Given the description of an element on the screen output the (x, y) to click on. 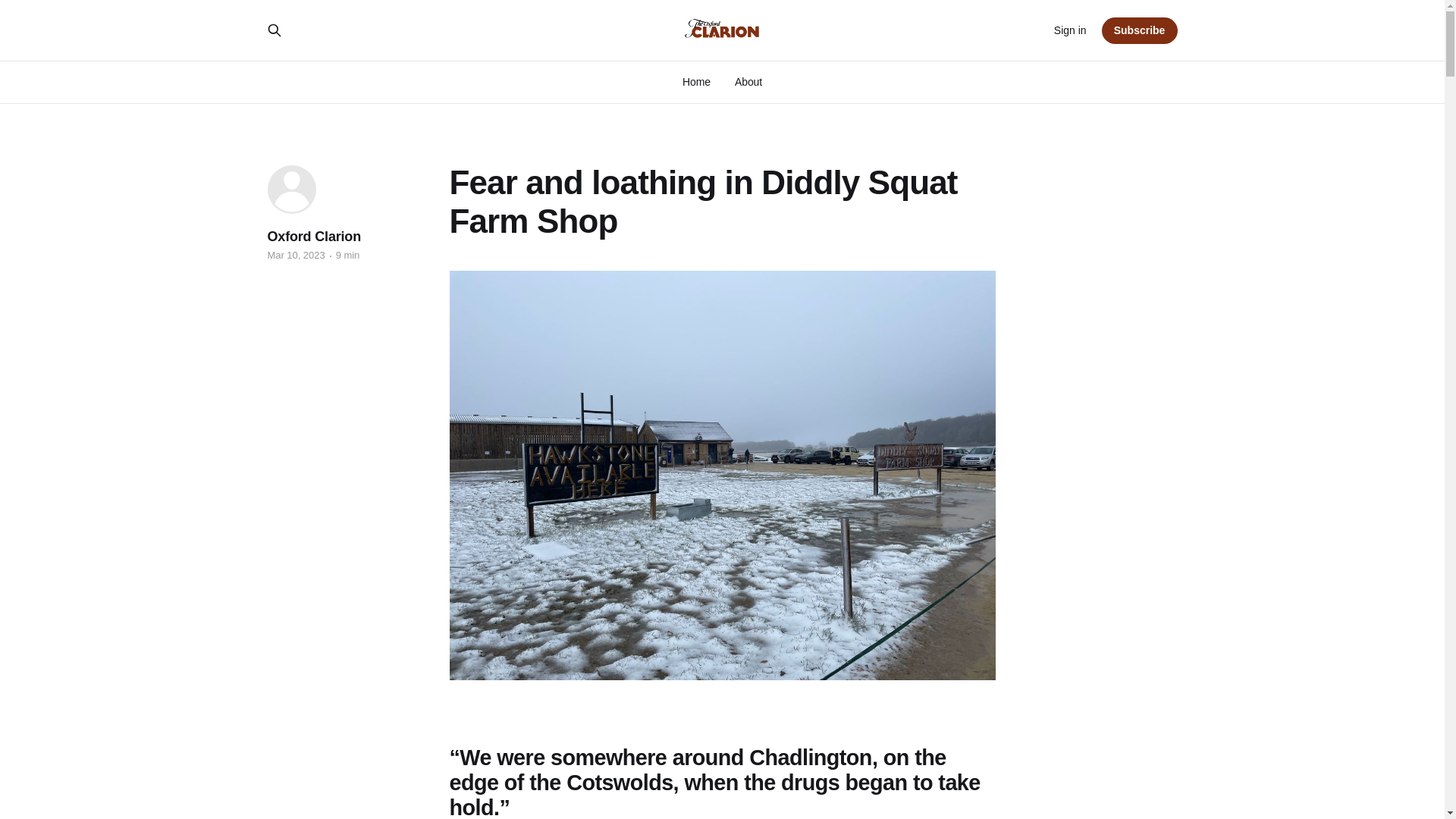
About (748, 81)
Subscribe (1139, 29)
Sign in (1070, 30)
Home (696, 81)
Oxford Clarion (313, 236)
